Given the description of an element on the screen output the (x, y) to click on. 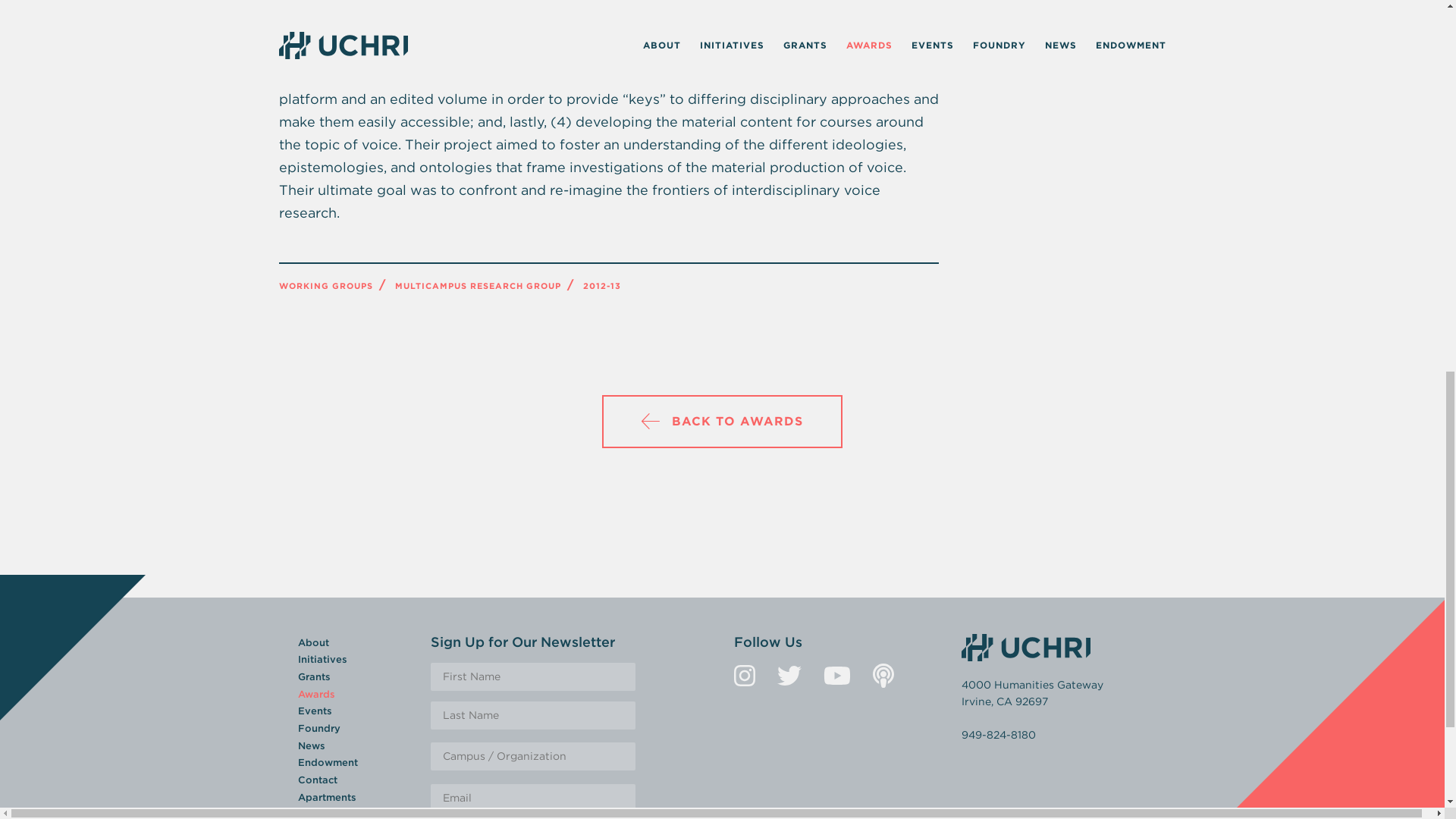
MULTICAMPUS RESEARCH GROUP (477, 285)
News (310, 745)
Awards (315, 694)
WORKING GROUPS (325, 285)
Contact (316, 779)
2012-13 (601, 285)
Events (314, 710)
Apartments (326, 797)
BACK TO AWARDS (722, 420)
Grants (313, 676)
Initiatives (321, 659)
About (313, 642)
Foundry (318, 727)
Endowment (326, 762)
